Given the description of an element on the screen output the (x, y) to click on. 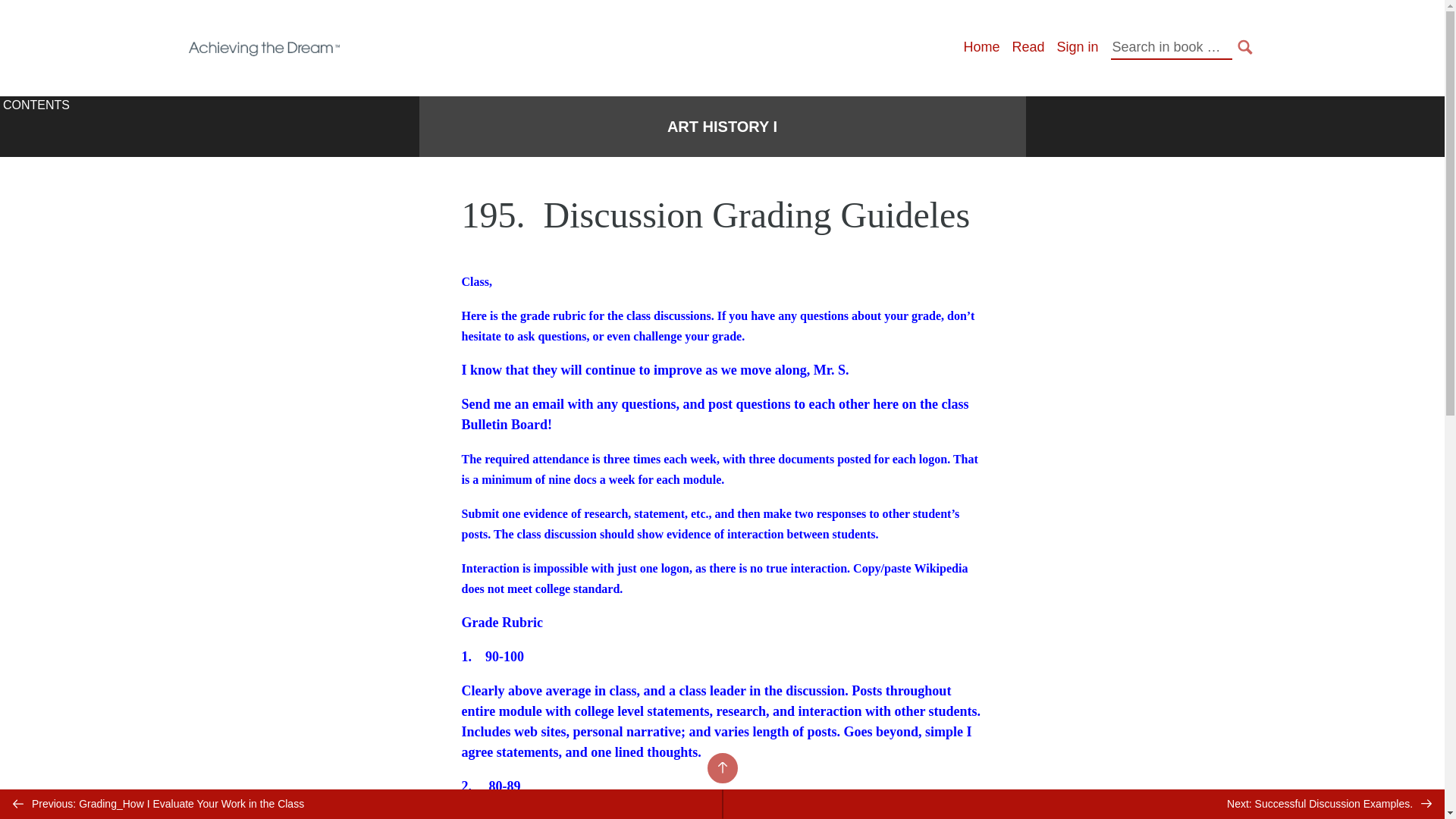
BACK TO TOP (721, 767)
Sign in (1077, 46)
Home (980, 46)
Read (1027, 46)
ART HISTORY I (721, 126)
